Given the description of an element on the screen output the (x, y) to click on. 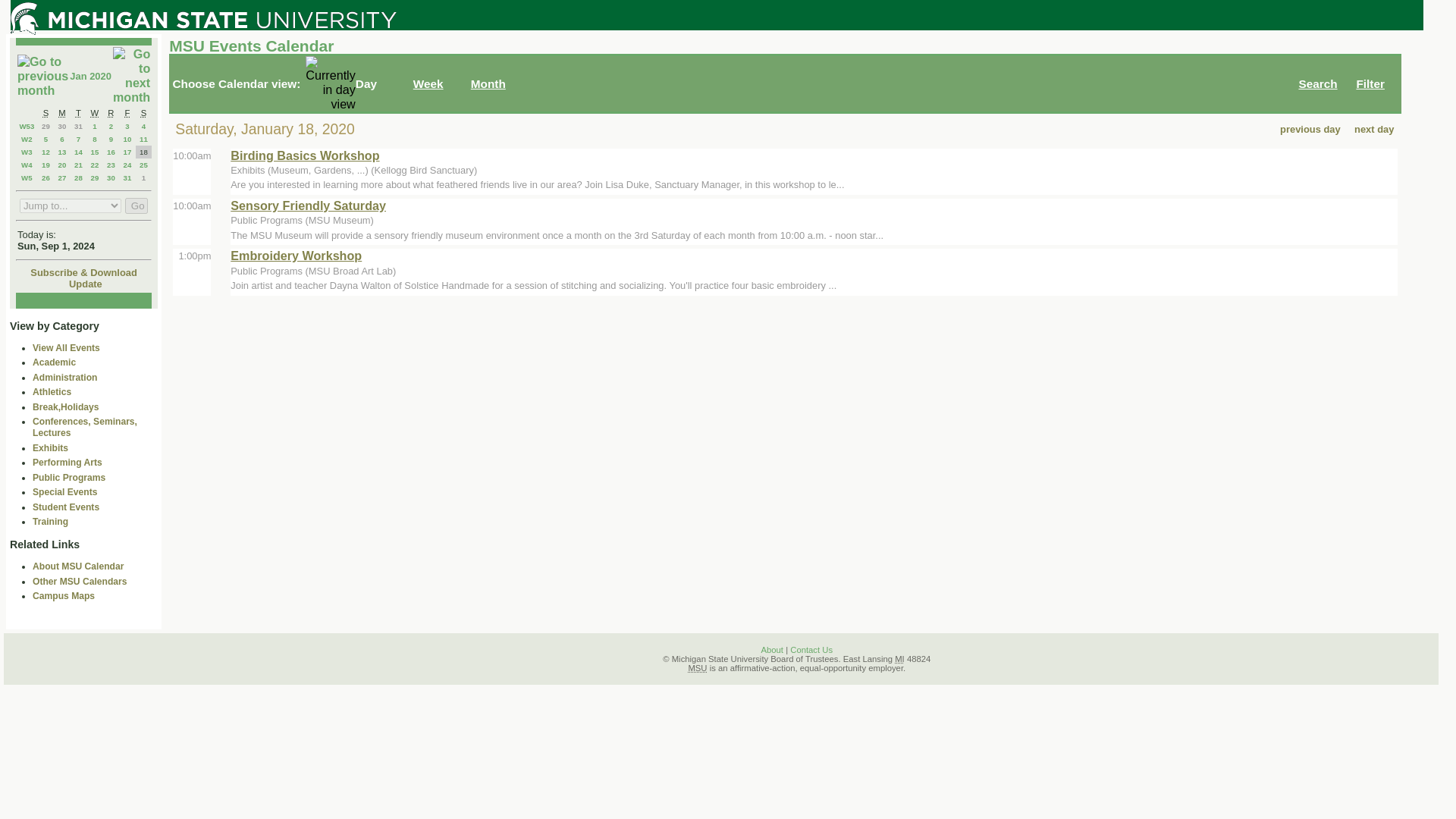
20 (62, 164)
24 (127, 164)
16 (110, 152)
22 (94, 164)
12 (45, 152)
14 (78, 152)
10 (127, 139)
29 (45, 126)
26 (45, 177)
W3 (26, 152)
